Given the description of an element on the screen output the (x, y) to click on. 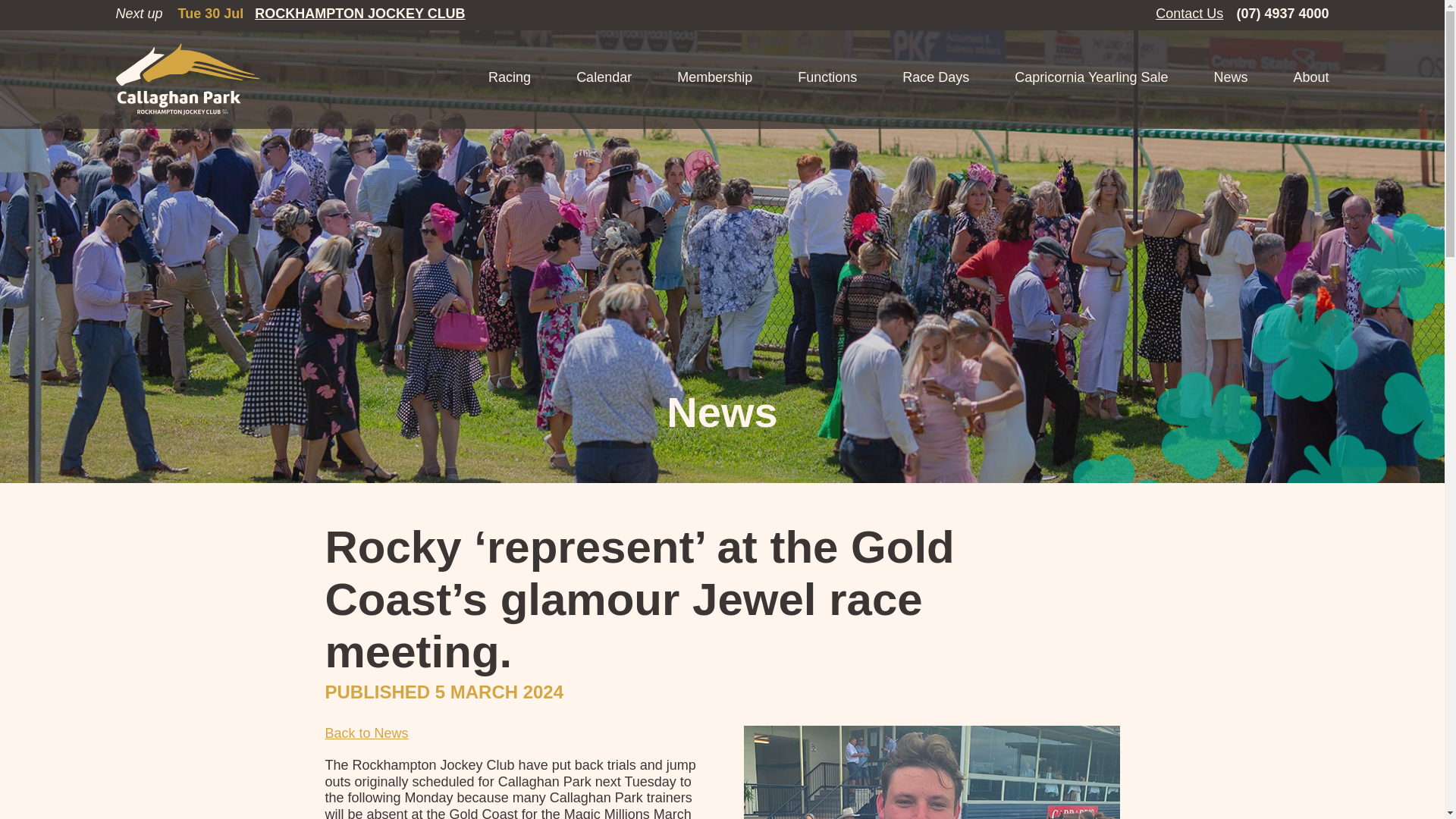
Race Days (935, 79)
Functions (826, 79)
Membership (713, 79)
Capricornia Yearling Sale (1091, 79)
Contact Us (1189, 13)
Racing (509, 79)
Back to News (365, 733)
ROCKHAMPTON JOCKEY CLUB (359, 13)
Calendar (603, 79)
